Given the description of an element on the screen output the (x, y) to click on. 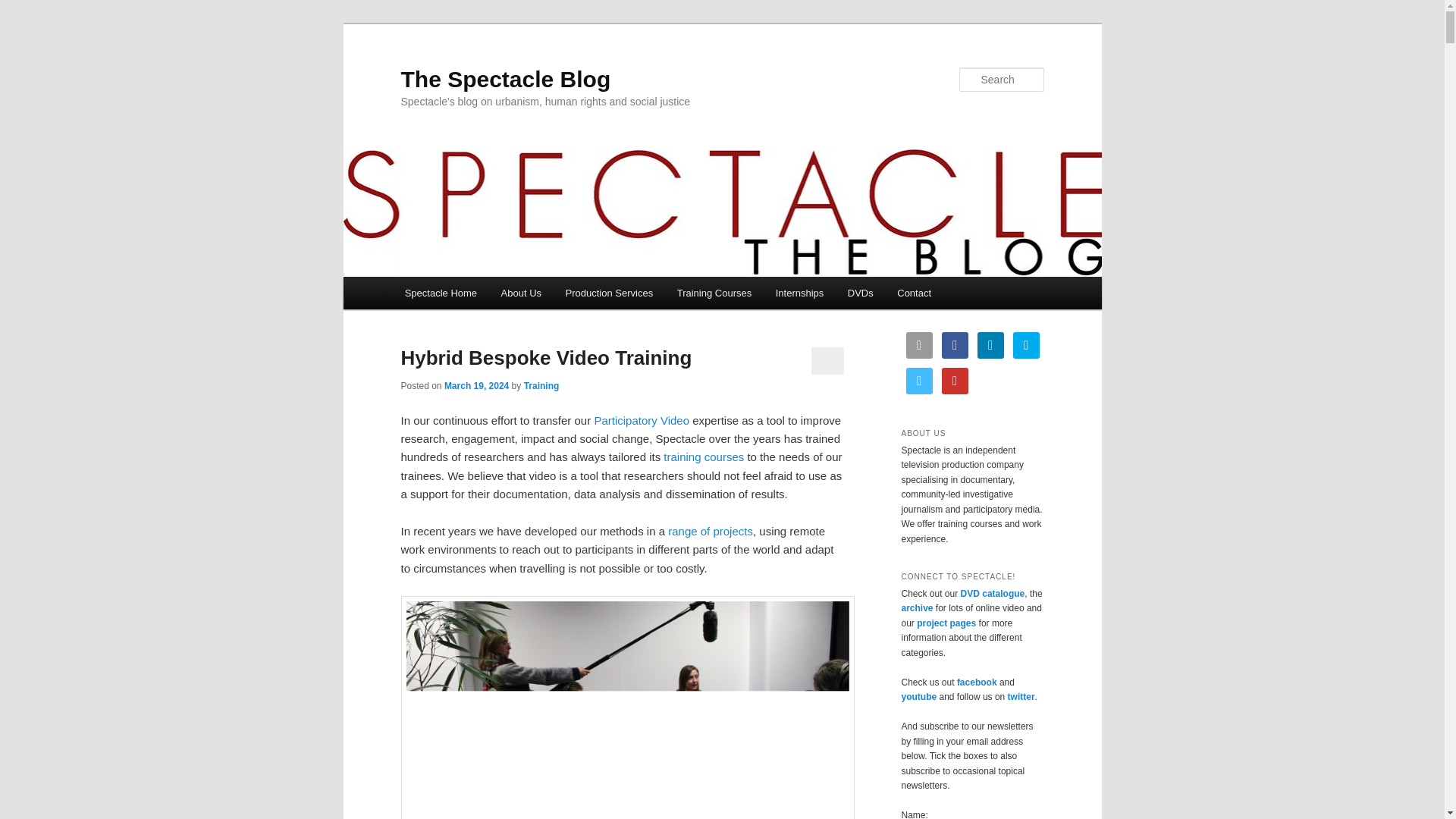
Participatory Video (641, 420)
Production Services (609, 292)
training courses (703, 456)
range of projects (710, 530)
Search (24, 8)
1:13 pm (476, 385)
Internships (798, 292)
Training (541, 385)
March 19, 2024 (476, 385)
Training Courses (713, 292)
